Given the description of an element on the screen output the (x, y) to click on. 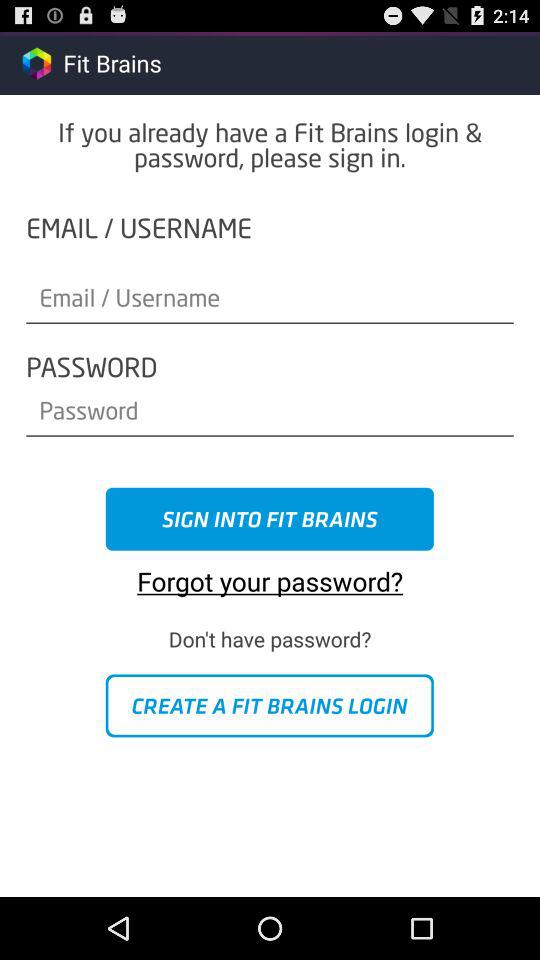
select the icon above don t have (270, 574)
